Given the description of an element on the screen output the (x, y) to click on. 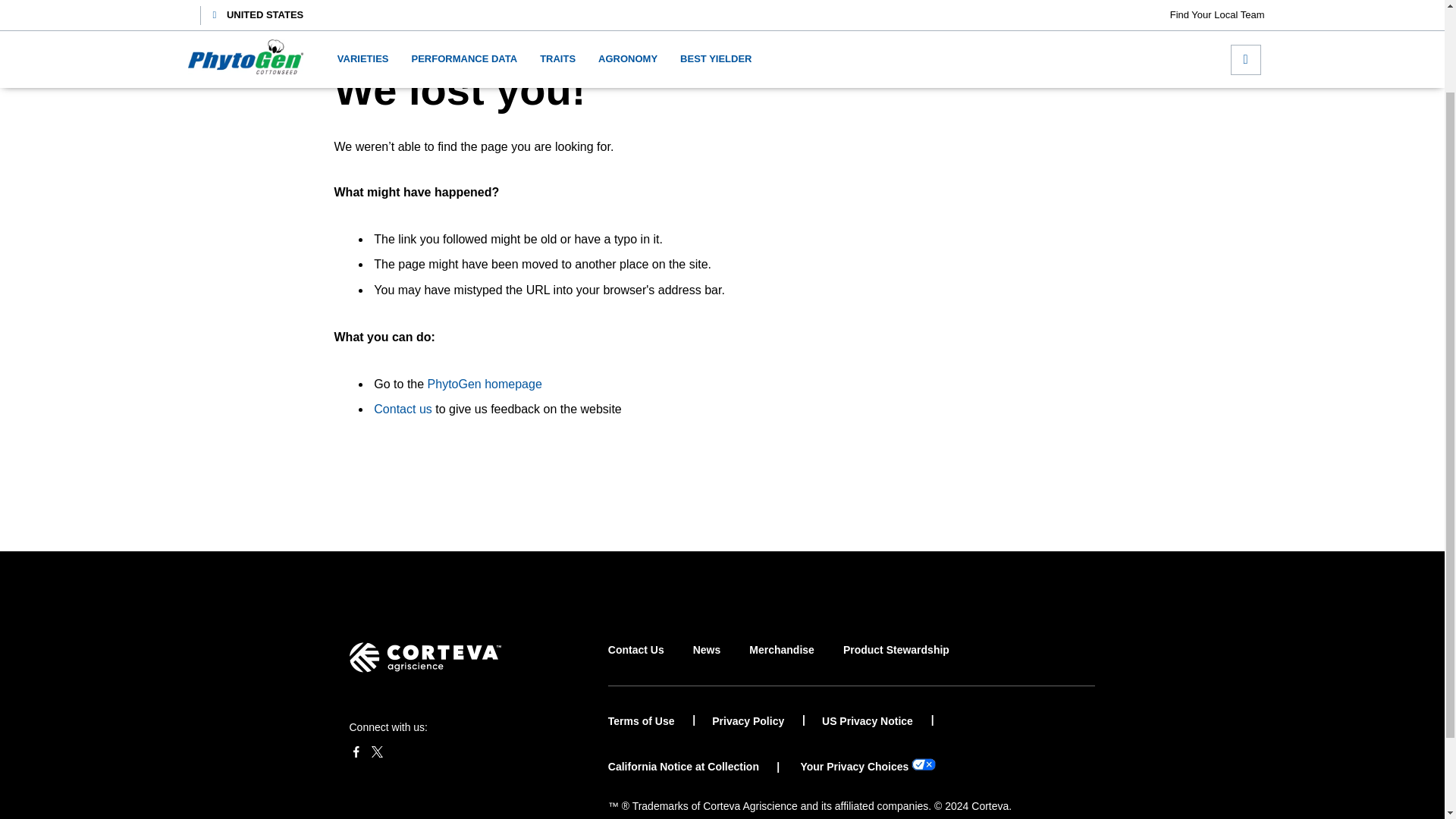
California Notice at Collection (683, 766)
Privacy Policy (758, 721)
Terms of Use (651, 721)
US Privacy Notice (878, 721)
Product Stewardship (896, 663)
Product Stewardship (896, 663)
Merchandise (781, 663)
Contact Us (635, 663)
Contact Us (635, 663)
Contact us (402, 408)
